Given the description of an element on the screen output the (x, y) to click on. 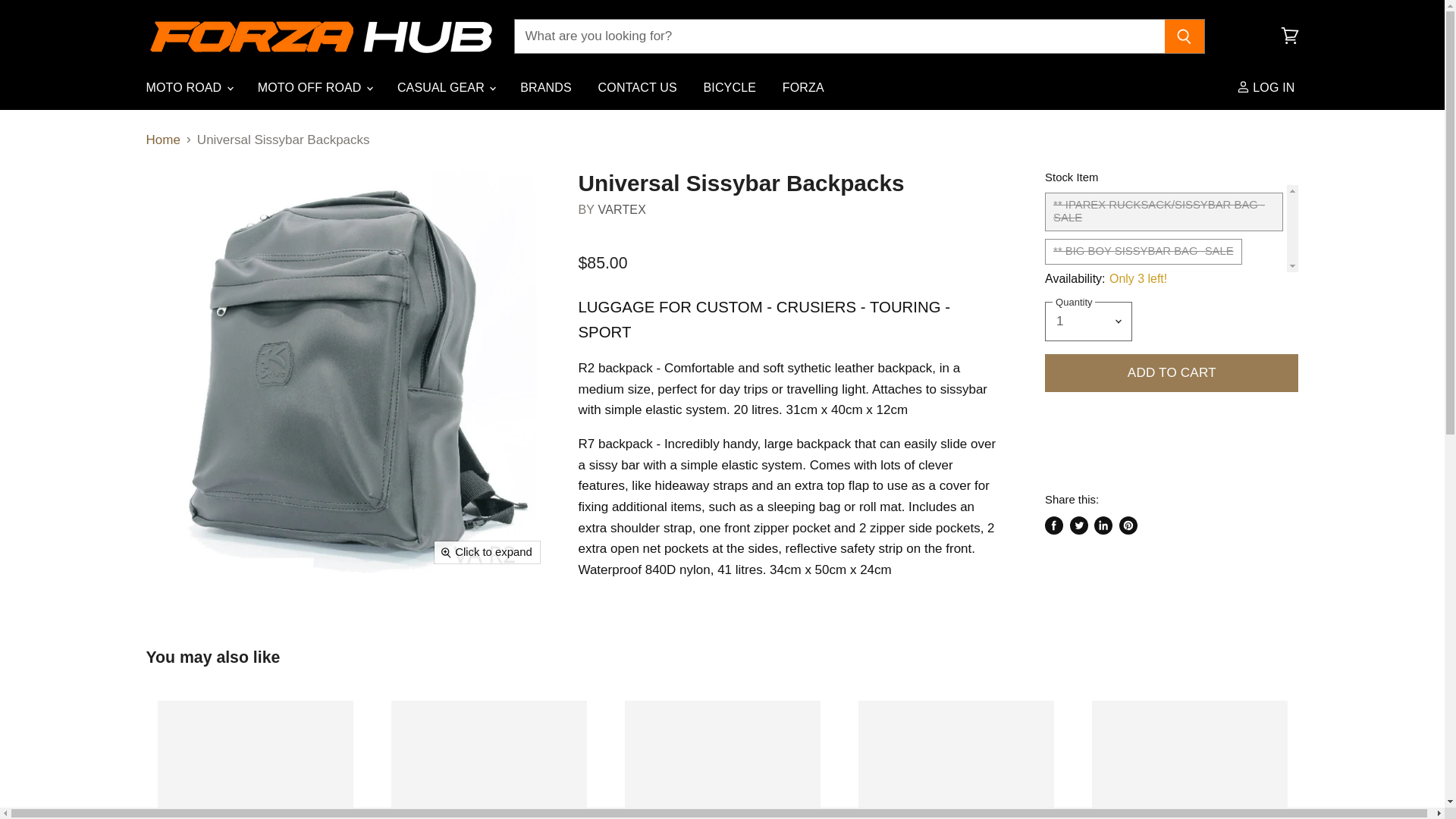
ACCOUNT ICON (1242, 86)
View cart (1289, 36)
MOTO ROAD (189, 87)
VARTEX (621, 209)
